Given the description of an element on the screen output the (x, y) to click on. 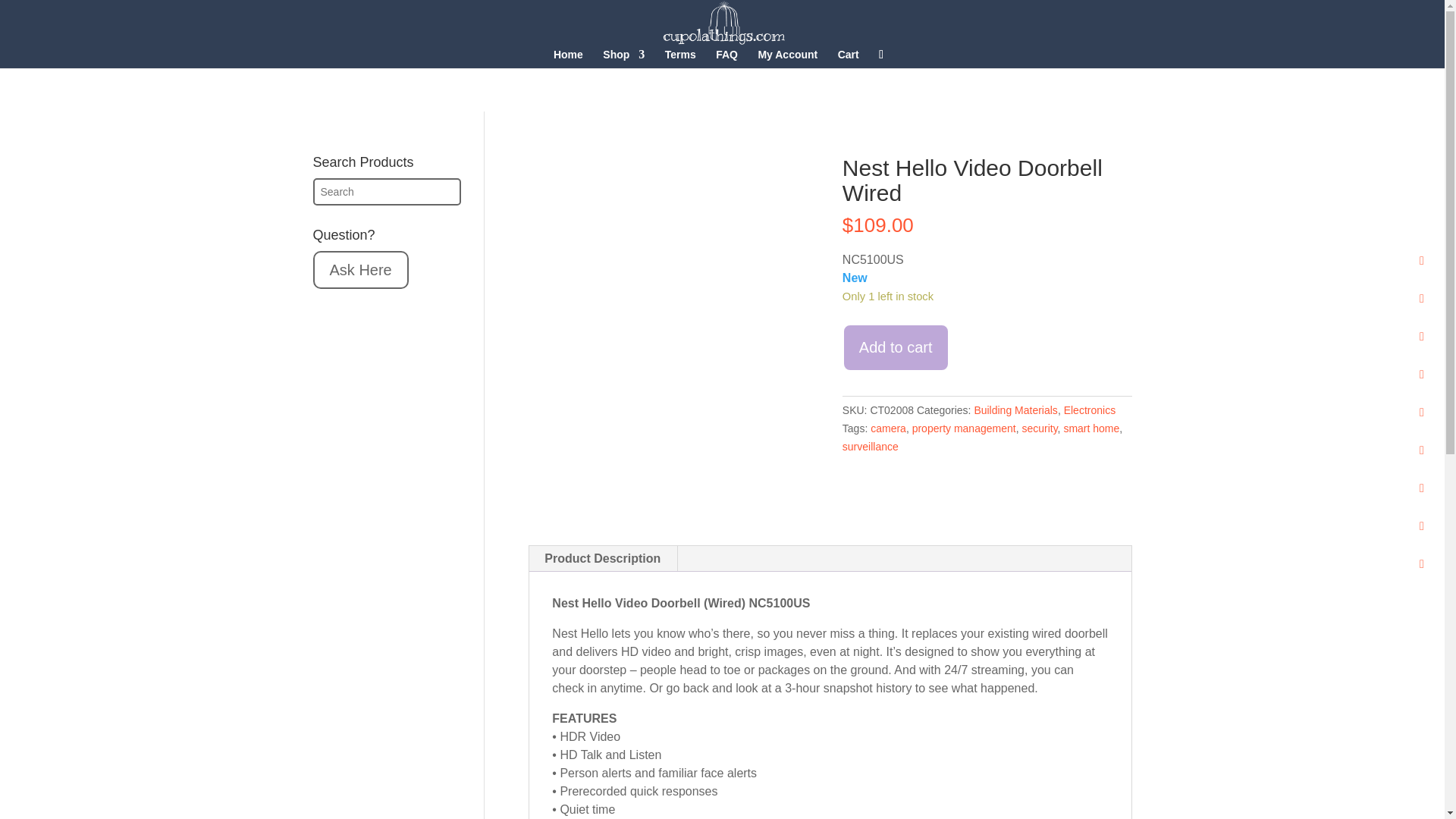
Terms (680, 58)
FAQ (727, 58)
Shop (623, 58)
Cart (848, 58)
Home (568, 58)
My Account (786, 58)
